Given the description of an element on the screen output the (x, y) to click on. 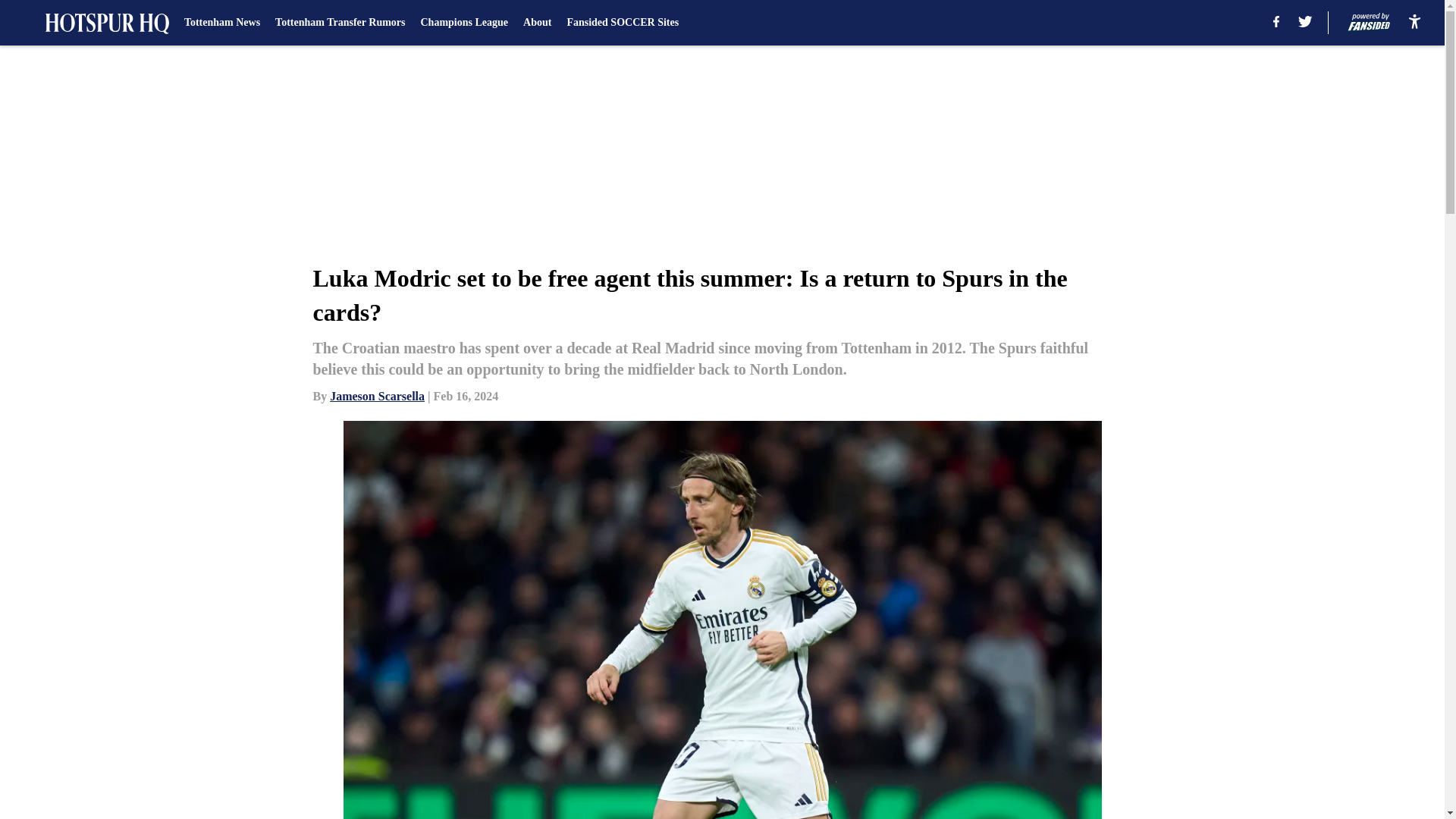
Champions League (464, 22)
Jameson Scarsella (377, 395)
Fansided SOCCER Sites (622, 22)
Tottenham News (222, 22)
About (536, 22)
Tottenham Transfer Rumors (339, 22)
